Given the description of an element on the screen output the (x, y) to click on. 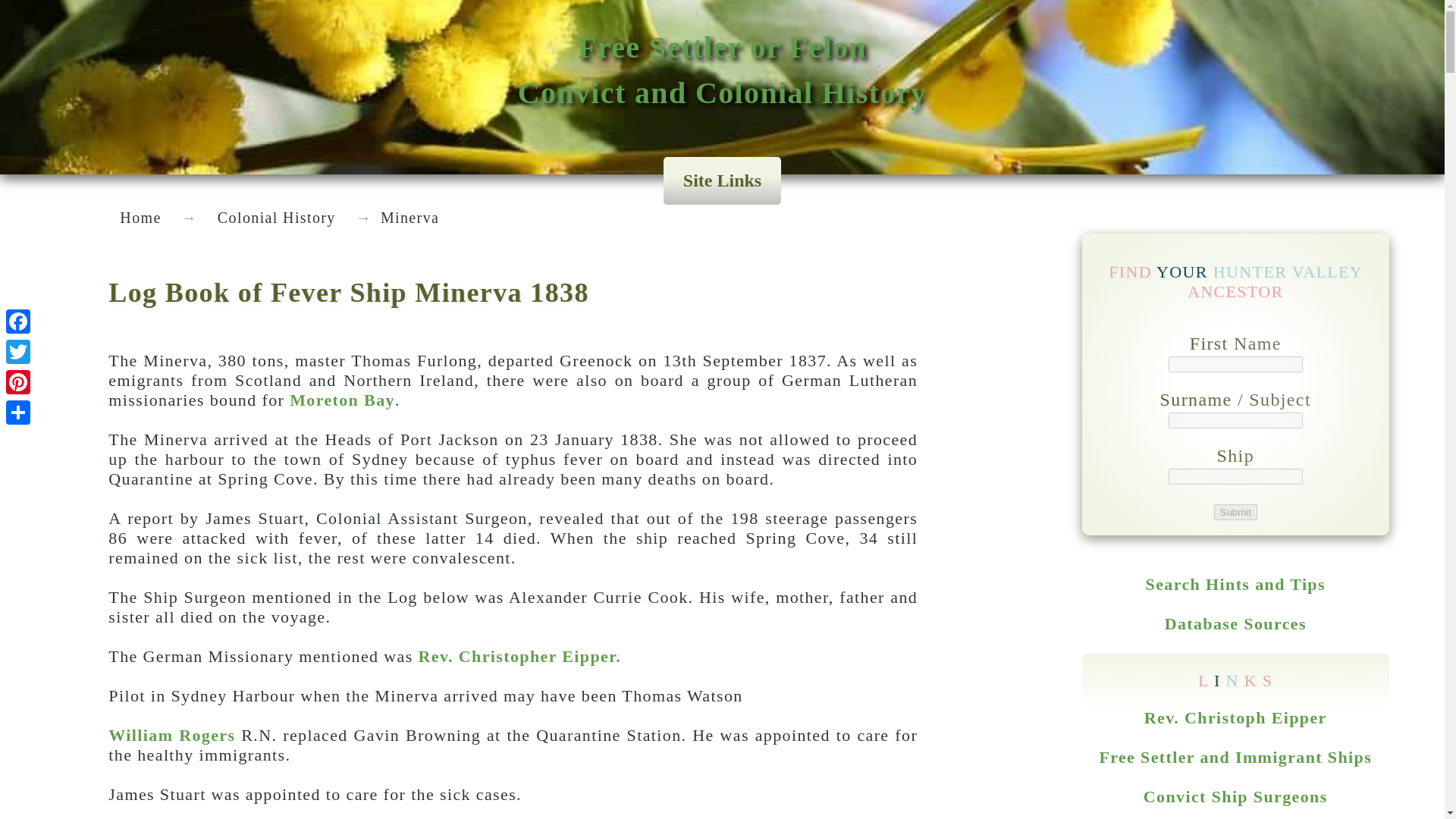
William Rogers (170, 734)
Home (139, 217)
Submit (1234, 511)
Colonial History (276, 217)
Facebook (17, 321)
Rev. Christoph Eipper (1235, 717)
Search Hints and Tips (1234, 583)
Submit (722, 69)
Pinterest (1234, 511)
